Given the description of an element on the screen output the (x, y) to click on. 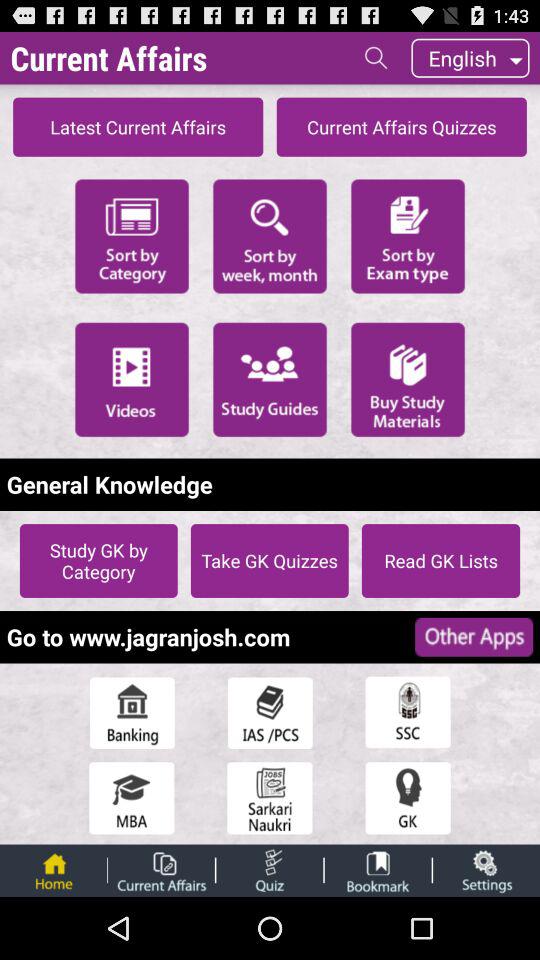
go to settings (486, 870)
